Given the description of an element on the screen output the (x, y) to click on. 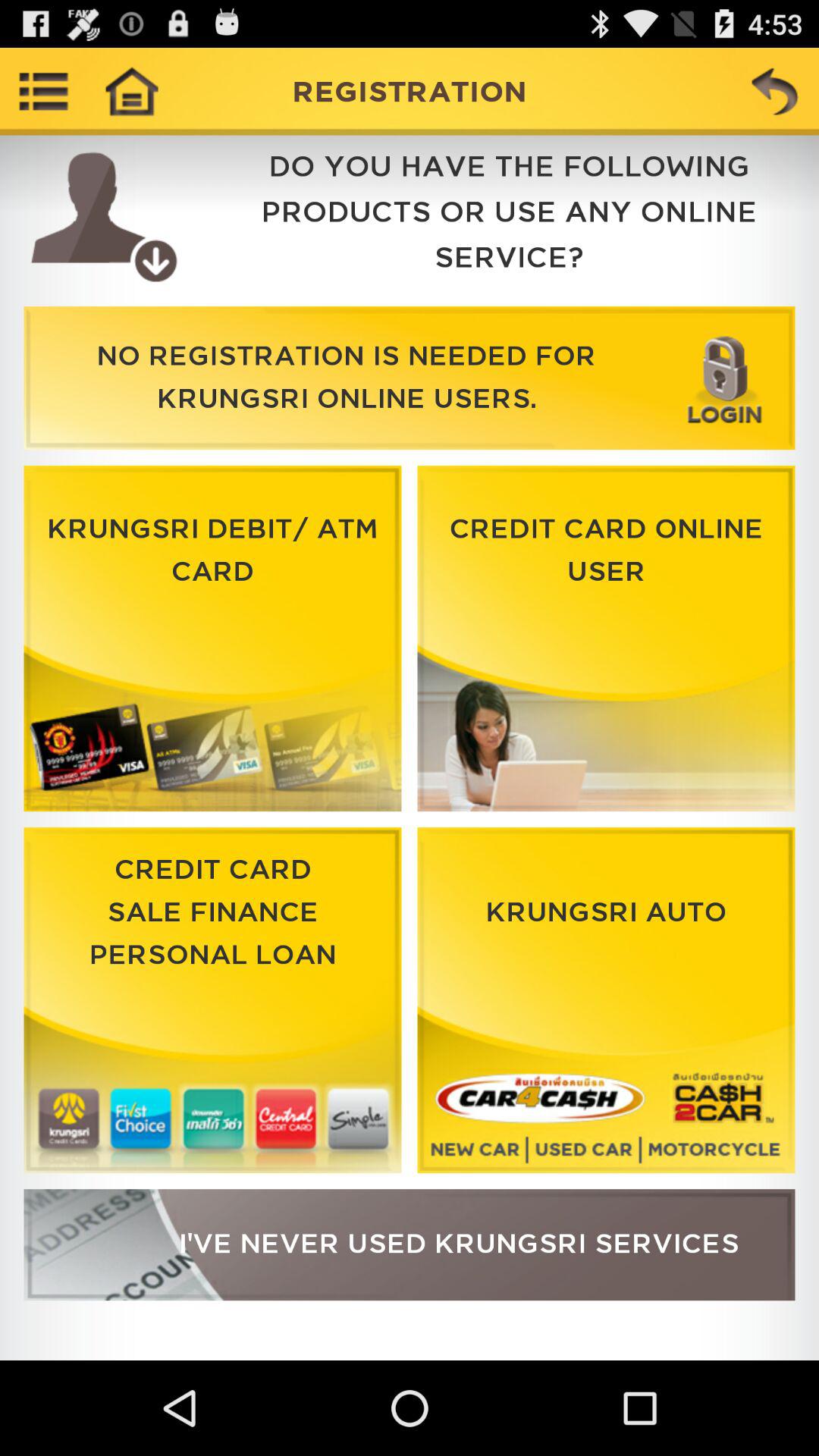
select product (212, 638)
